Given the description of an element on the screen output the (x, y) to click on. 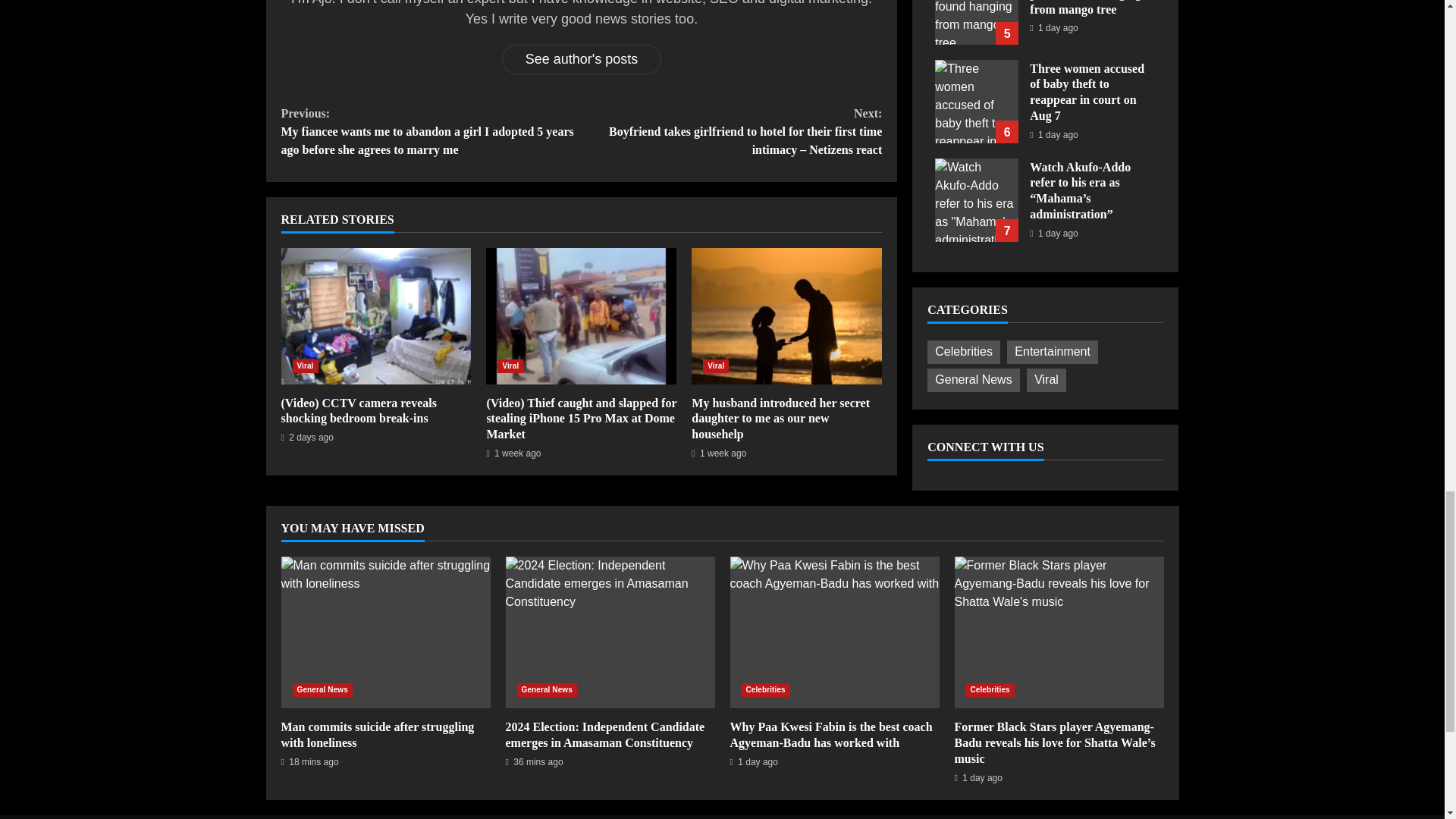
Viral (716, 366)
See author's posts (582, 58)
Viral (305, 366)
Viral (509, 366)
